Given the description of an element on the screen output the (x, y) to click on. 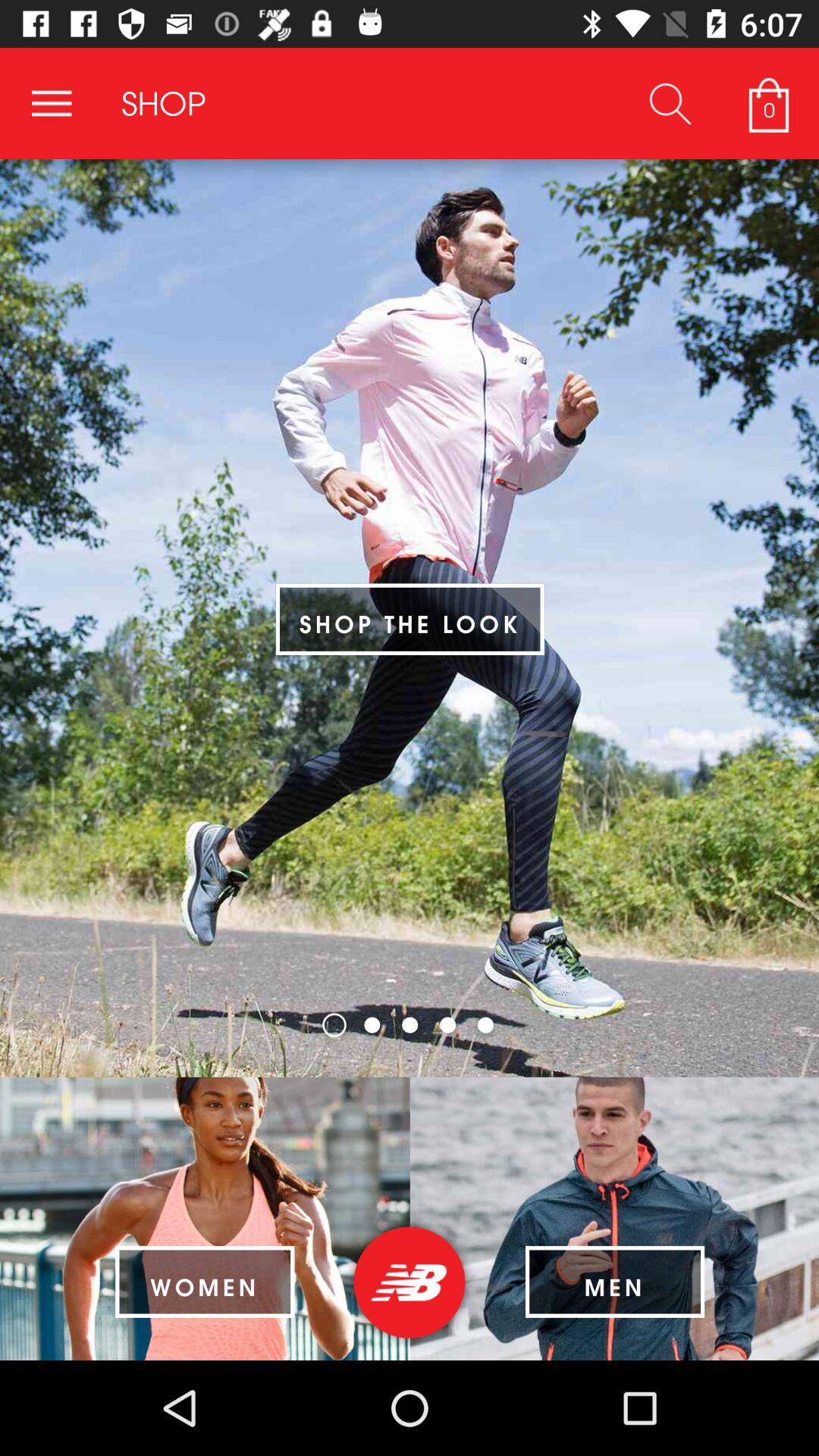
more options (51, 103)
